Given the description of an element on the screen output the (x, y) to click on. 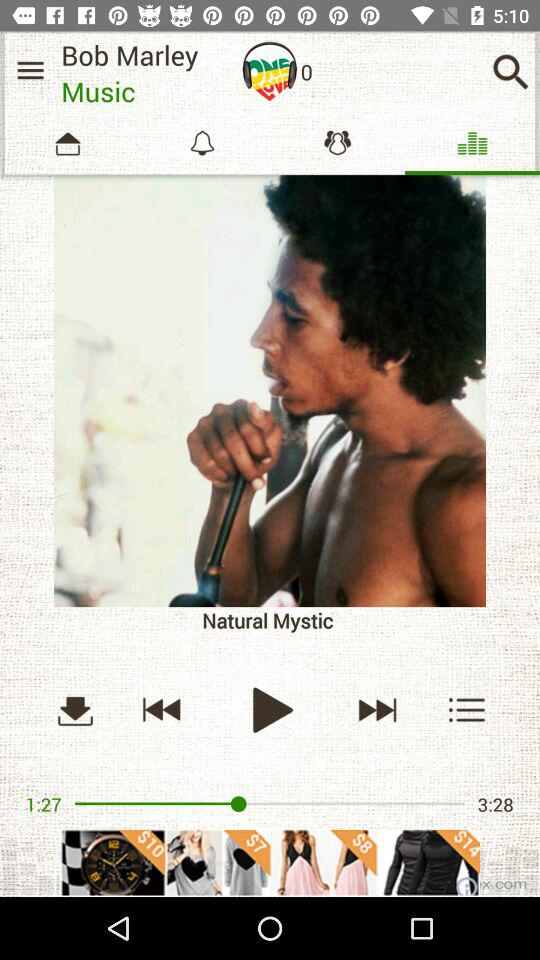
menu (30, 69)
